Given the description of an element on the screen output the (x, y) to click on. 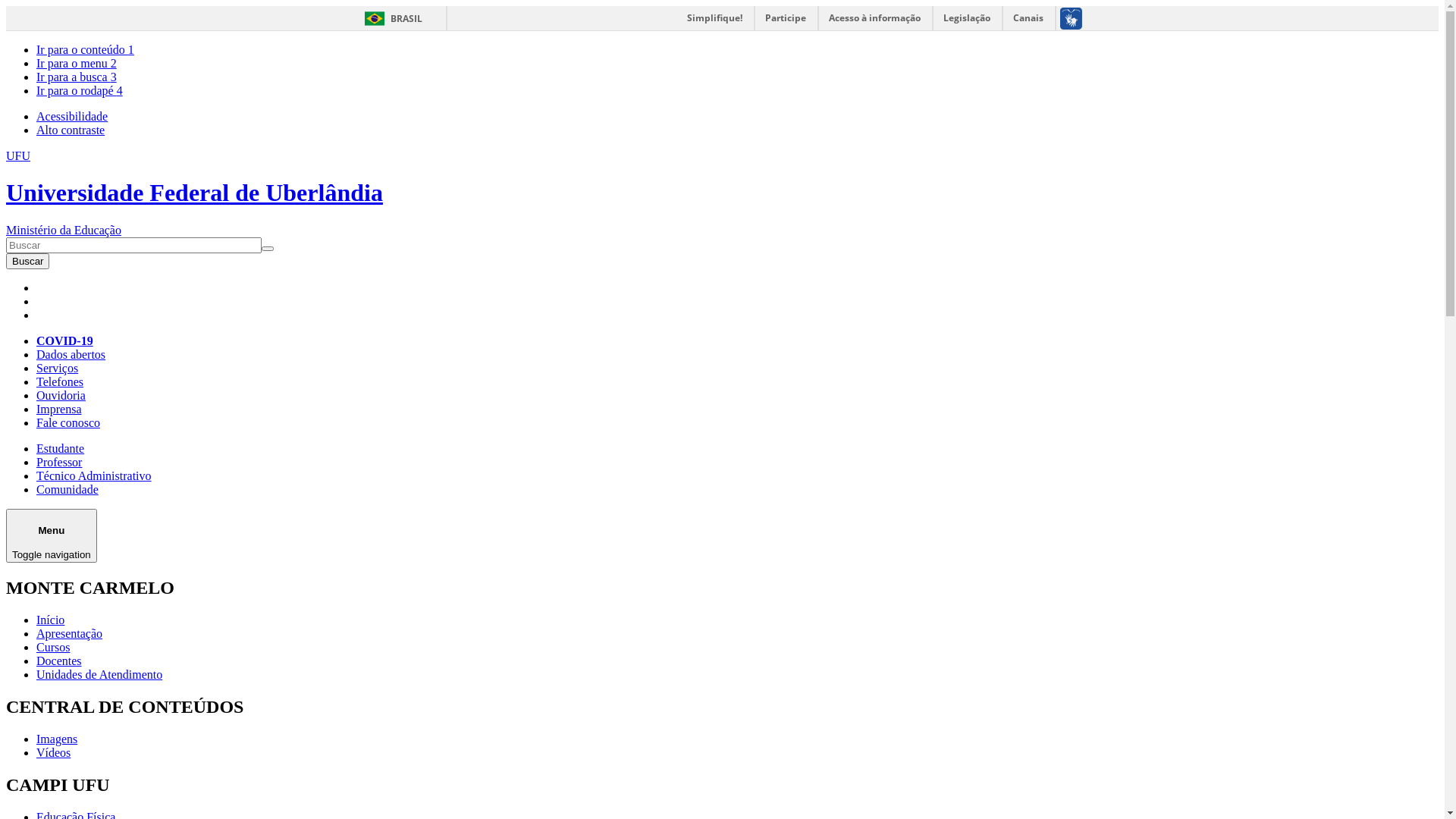
Dados abertos Element type: text (70, 354)
Ir para o menu 2 Element type: text (76, 62)
Docentes Element type: text (58, 660)
Telefones Element type: text (59, 381)
Menu
Toggle navigation Element type: text (51, 535)
COVID-19 Element type: text (64, 340)
Simplifique! Element type: text (714, 17)
Fale conosco Element type: text (68, 422)
Ouvidoria Element type: text (60, 395)
Acessibilidade Element type: text (71, 115)
Ir para a busca 3 Element type: text (76, 76)
Unidades de Atendimento Element type: text (99, 674)
Estudante Element type: text (60, 448)
Buscar Element type: text (27, 261)
Cursos Element type: text (52, 646)
BRASIL Element type: text (389, 18)
Professor Element type: text (58, 461)
Alto contraste Element type: text (70, 129)
Comunidade Element type: text (67, 489)
Canais Element type: text (1028, 17)
Imprensa Element type: text (58, 408)
Imagens Element type: text (56, 738)
Participe Element type: text (786, 17)
